Given the description of an element on the screen output the (x, y) to click on. 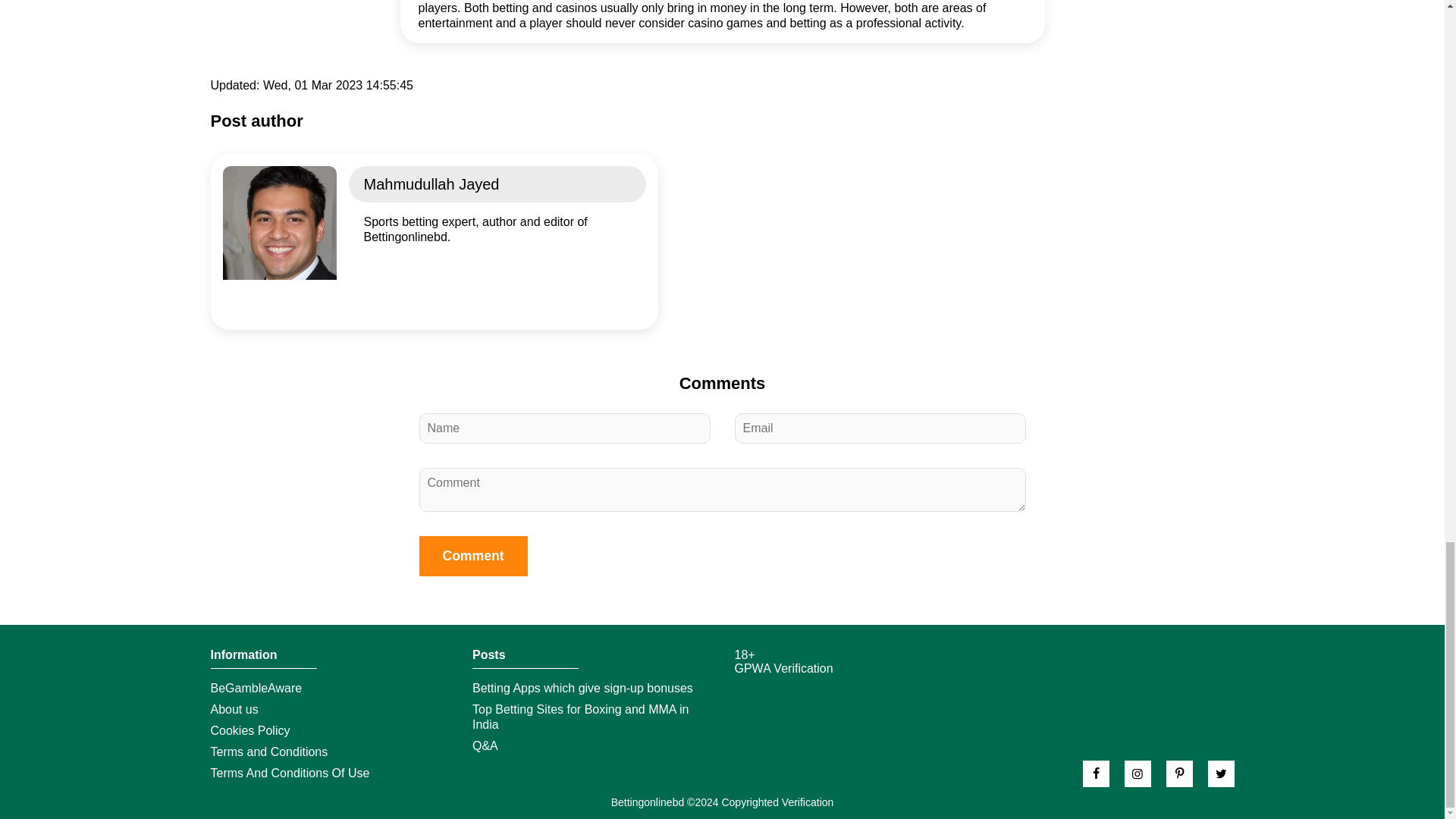
DMCA.com Protection Status (790, 694)
